Given the description of an element on the screen output the (x, y) to click on. 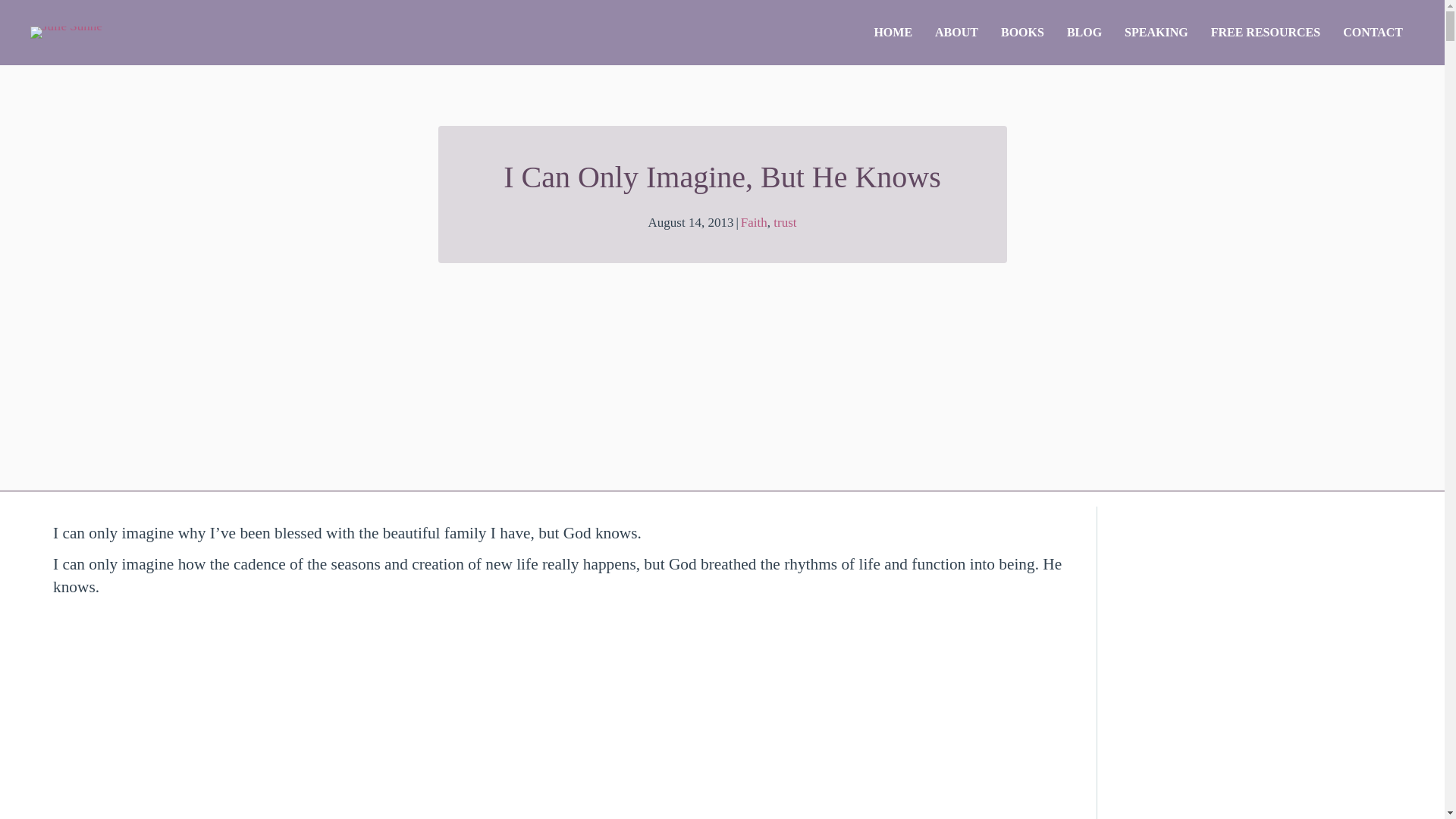
BOOKS (1022, 32)
ABOUT (956, 32)
CONTACT (1372, 32)
Faith (754, 222)
FREE RESOURCES (1265, 32)
juls-logo-wo-tagline-white (65, 32)
BLOG (1084, 32)
HOME (892, 32)
trust (784, 222)
SPEAKING (1156, 32)
